Given the description of an element on the screen output the (x, y) to click on. 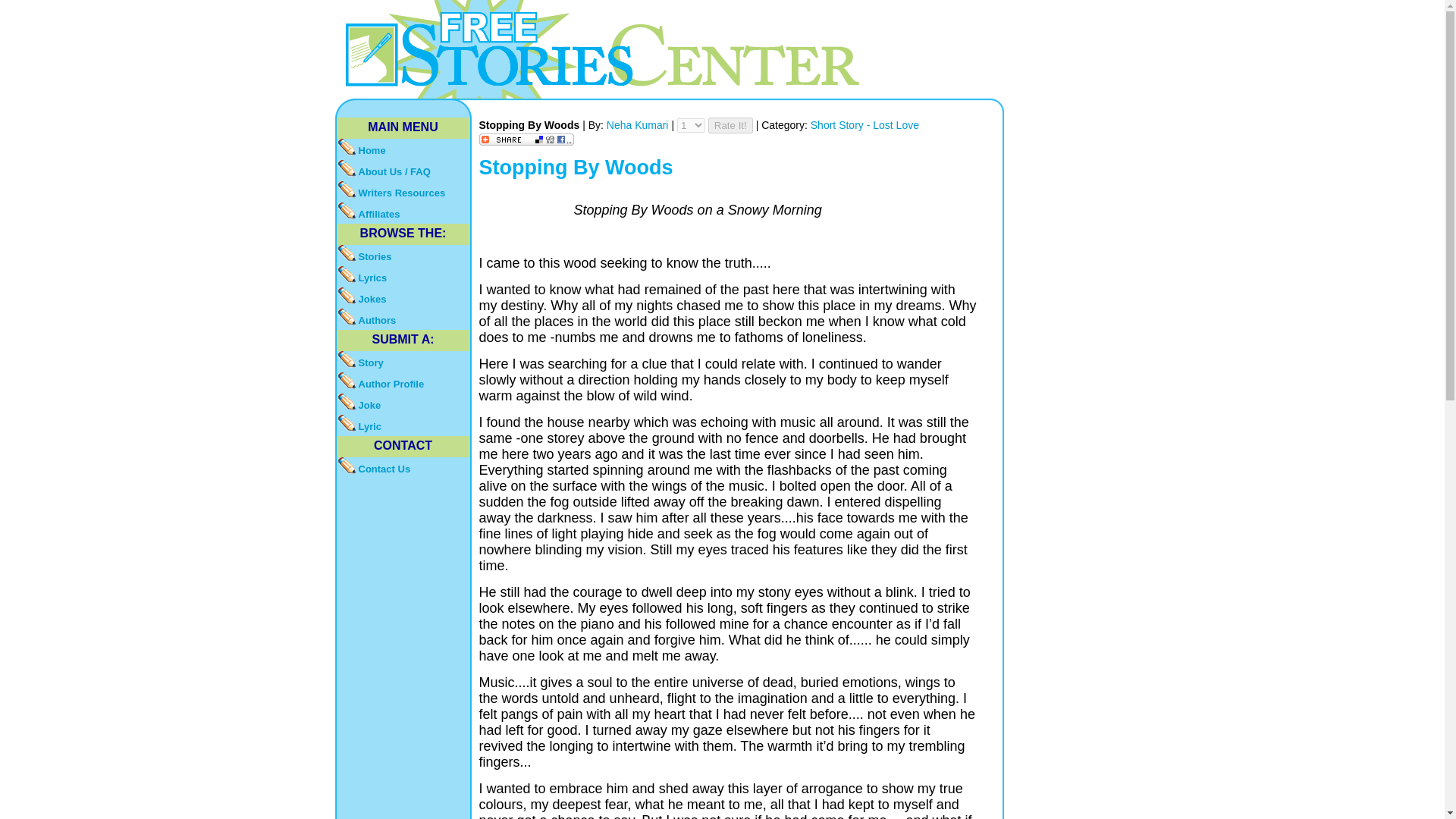
Rate It! (729, 125)
Affiliates (403, 212)
Joke (403, 403)
Neha Kumari (639, 124)
Lyric (403, 424)
Contact Us (403, 467)
Story (403, 361)
Home (403, 148)
Stories (403, 255)
Jokes (403, 297)
